Given the description of an element on the screen output the (x, y) to click on. 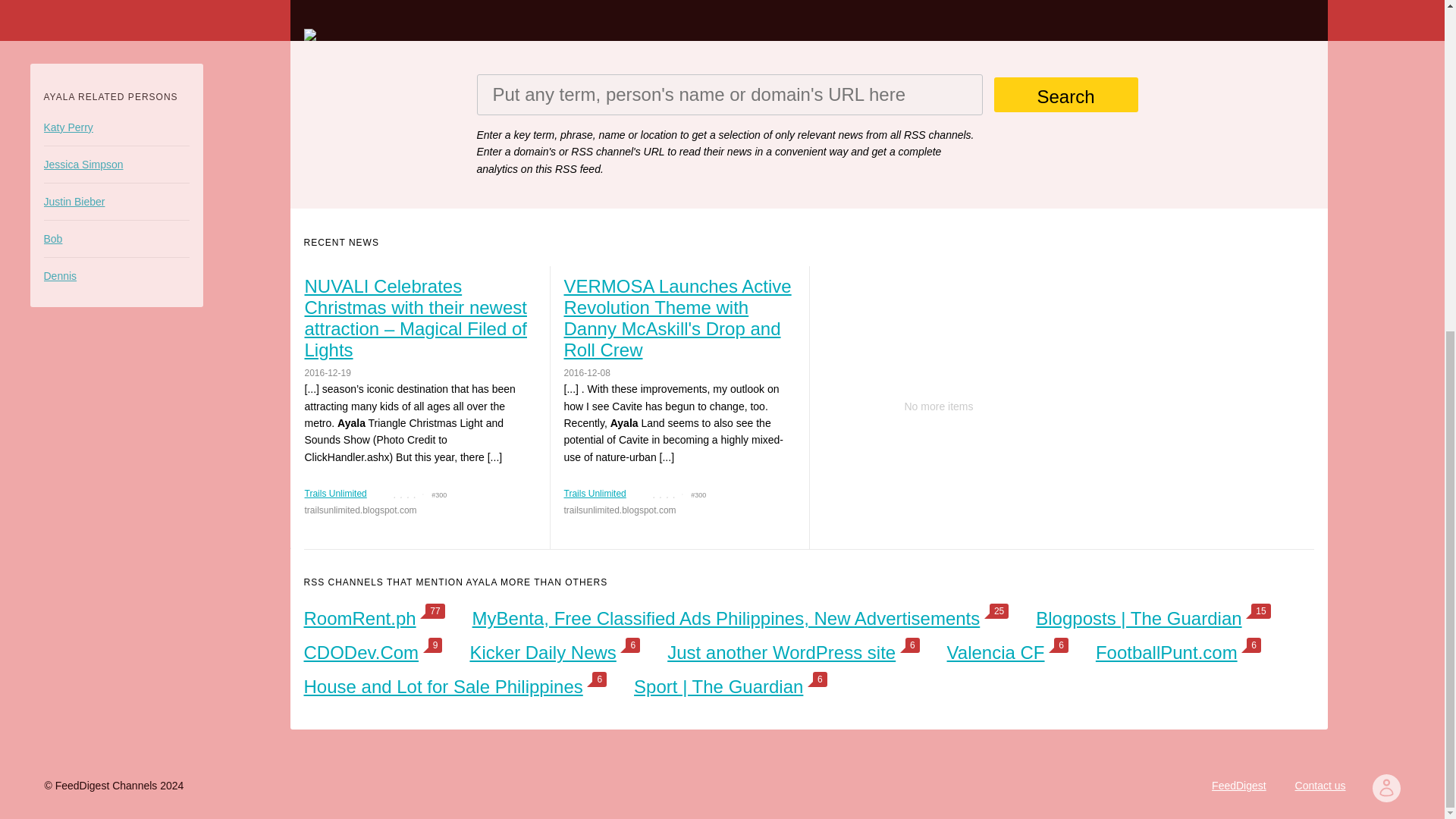
Trails Unlimited (335, 493)
Just another WordPress site (780, 652)
Search (1064, 94)
Trails Unlimited (595, 493)
MyBenta, Free Classified Ads Philippines, New Advertisements (725, 618)
CDODev.Com (360, 652)
Kicker Daily News (541, 652)
House and Lot for Sale Philippines (442, 686)
FootballPunt.com (1166, 652)
RoomRent.ph (358, 618)
Valencia CF (996, 652)
